Given the description of an element on the screen output the (x, y) to click on. 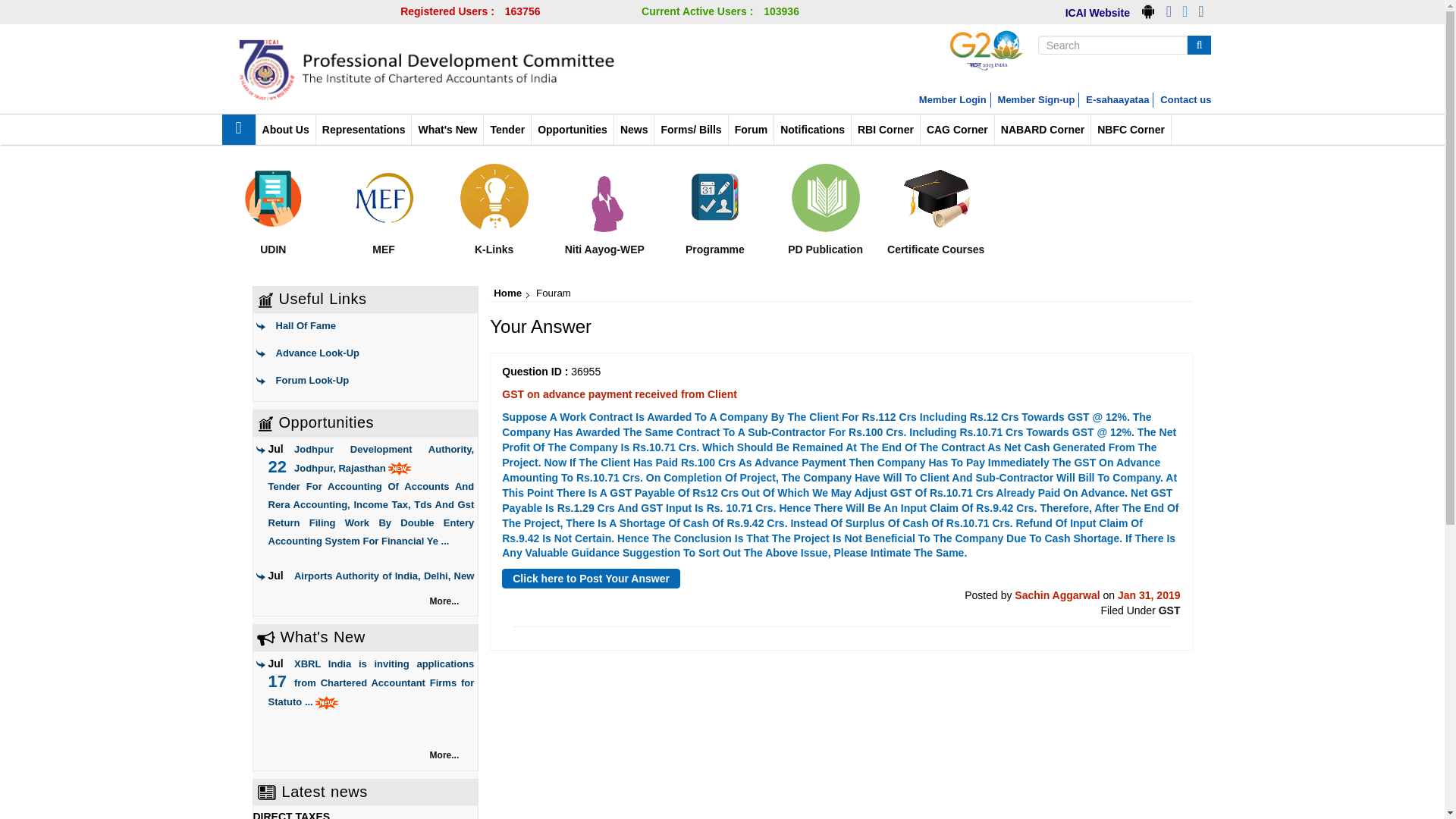
Representations (363, 129)
What's New (447, 129)
About Us (285, 129)
E-sahaayataa (1117, 99)
Tender (507, 129)
Opportunities (571, 129)
Member Sign-up (1036, 99)
Member Login (952, 99)
Click here to view details (370, 623)
Contact us (1185, 99)
Click here to view details (370, 682)
News (633, 129)
ICAI Website (1097, 12)
Click here to view details (370, 496)
